Given the description of an element on the screen output the (x, y) to click on. 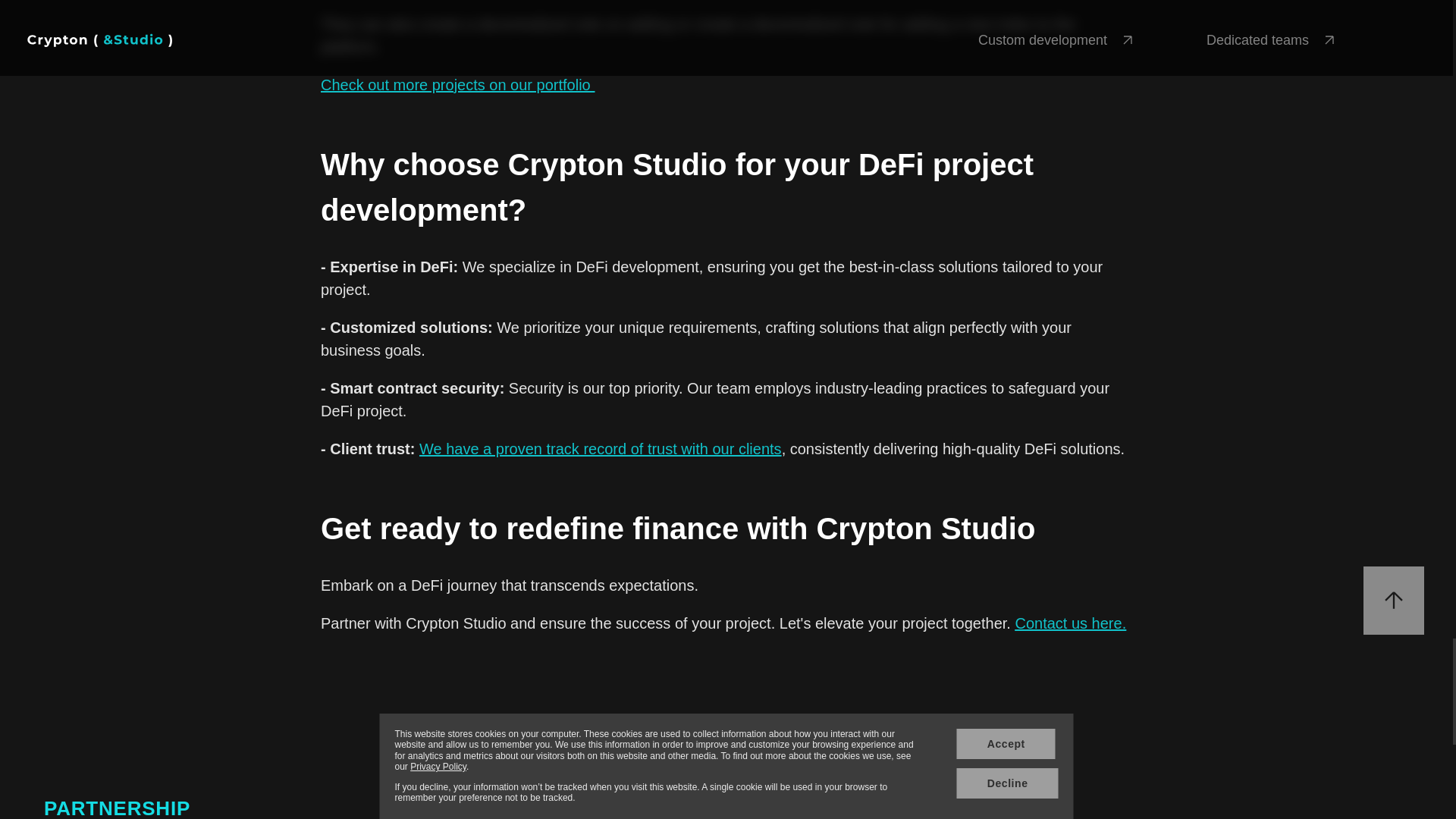
Check out more projects on our portfolio  (457, 84)
We have a proven track record of trust with our clients (600, 448)
Contact us here. (1069, 623)
